Given the description of an element on the screen output the (x, y) to click on. 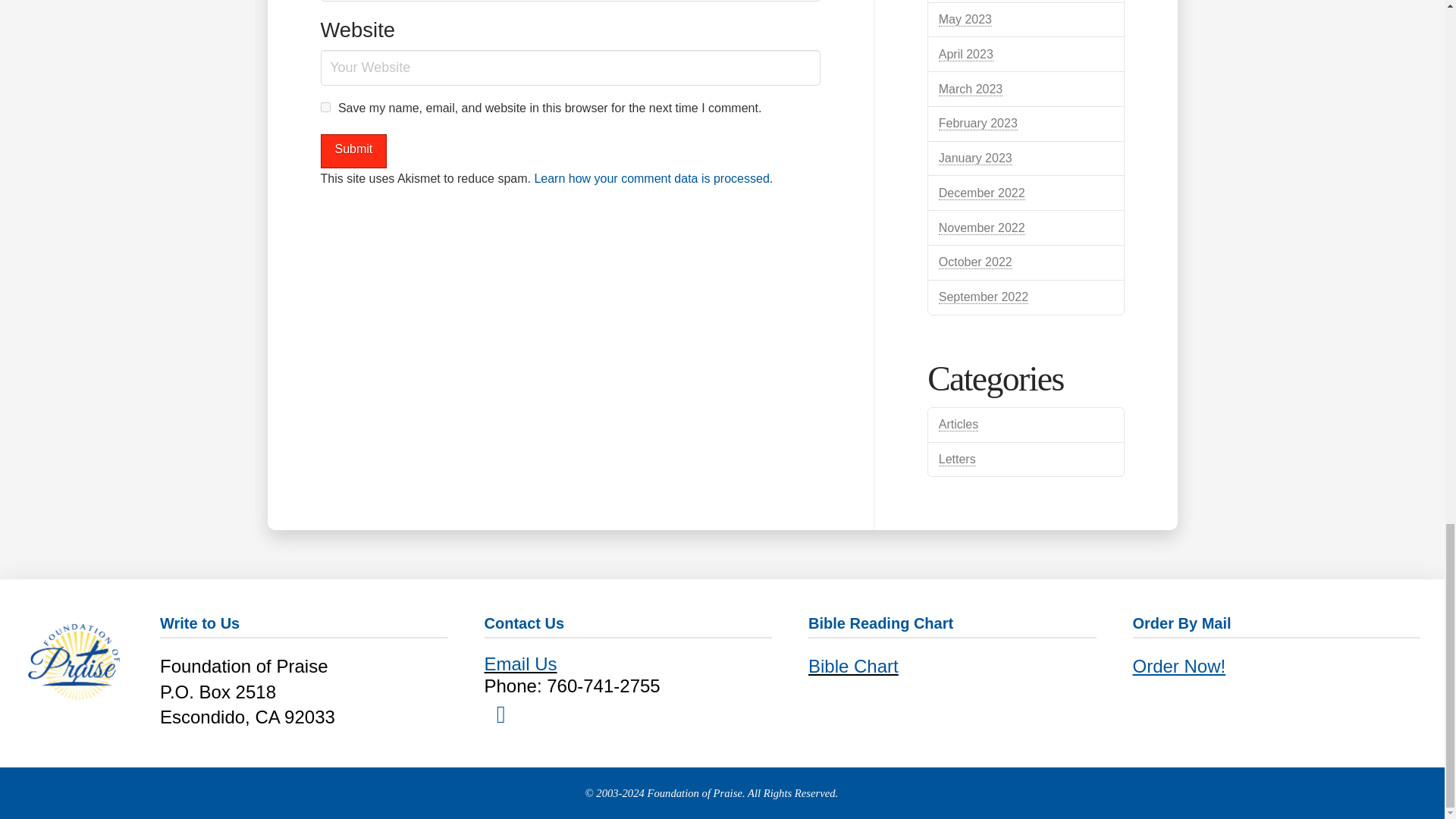
yes (325, 107)
Submit (353, 151)
Learn how your comment data is processed (651, 178)
